Given the description of an element on the screen output the (x, y) to click on. 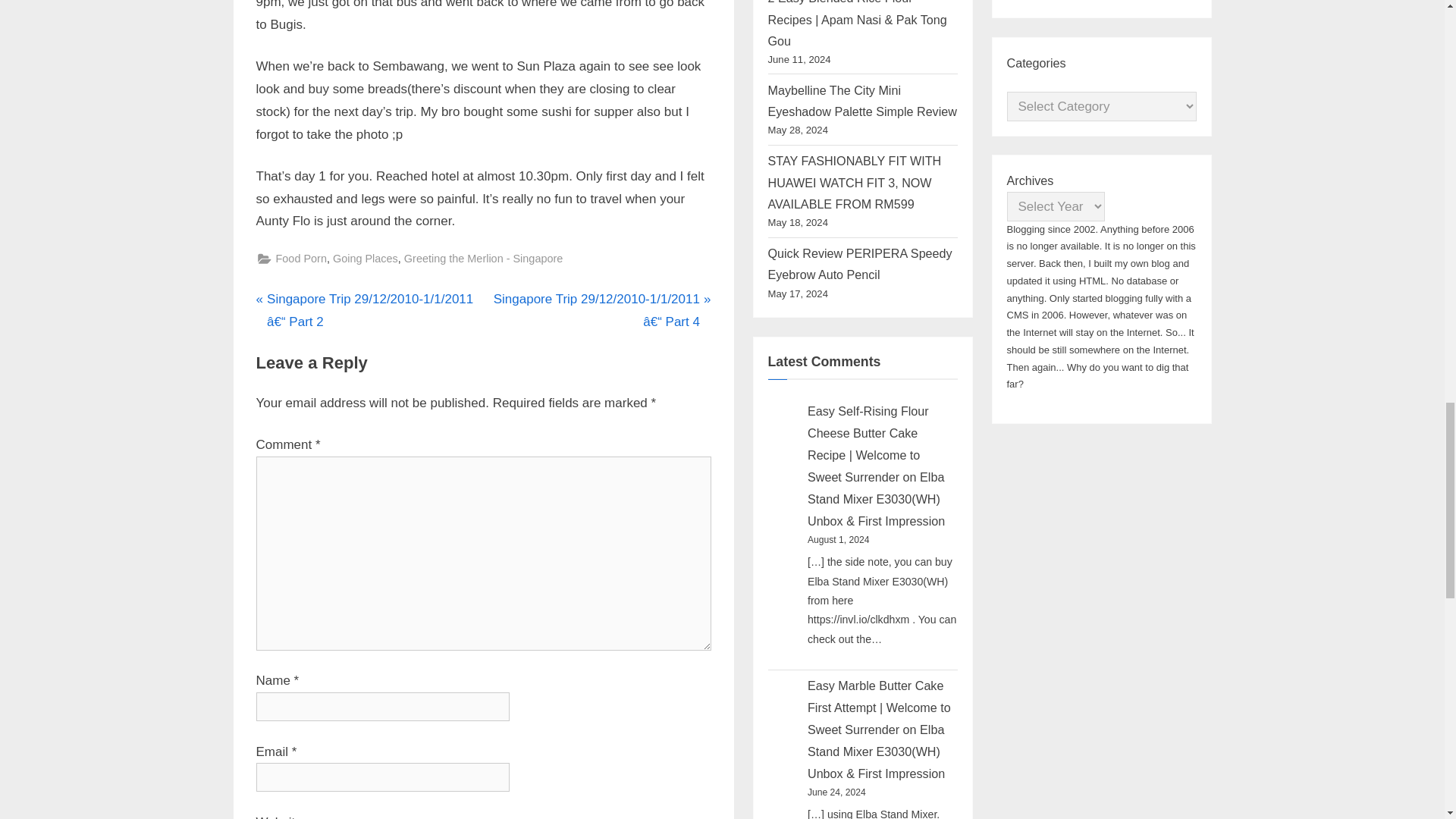
Going Places (365, 258)
Greeting the Merlion - Singapore (483, 258)
Food Porn (301, 258)
